Given the description of an element on the screen output the (x, y) to click on. 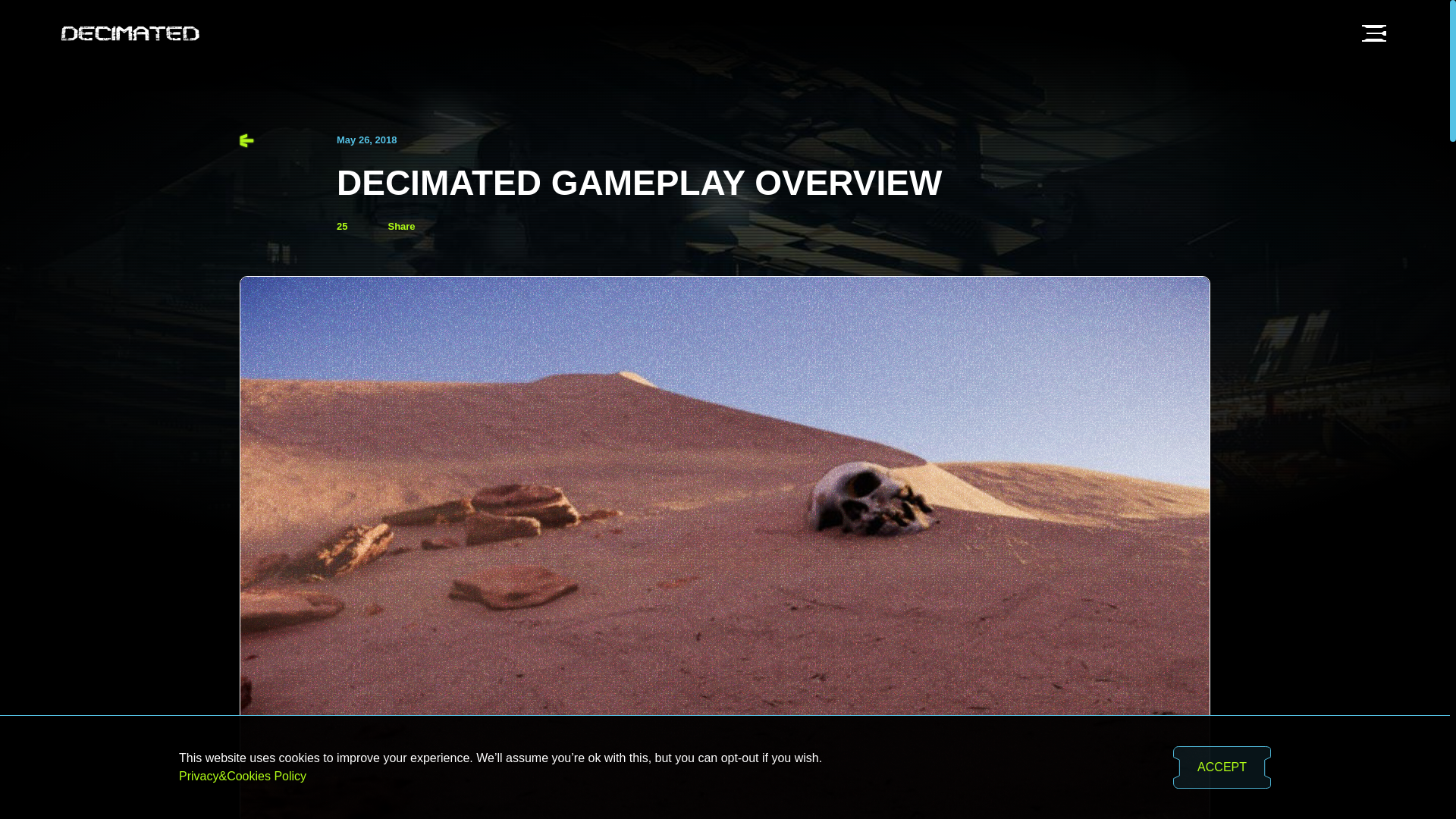
Opens a widget where you can find more information (1346, 739)
ACCEPT (1222, 767)
